Given the description of an element on the screen output the (x, y) to click on. 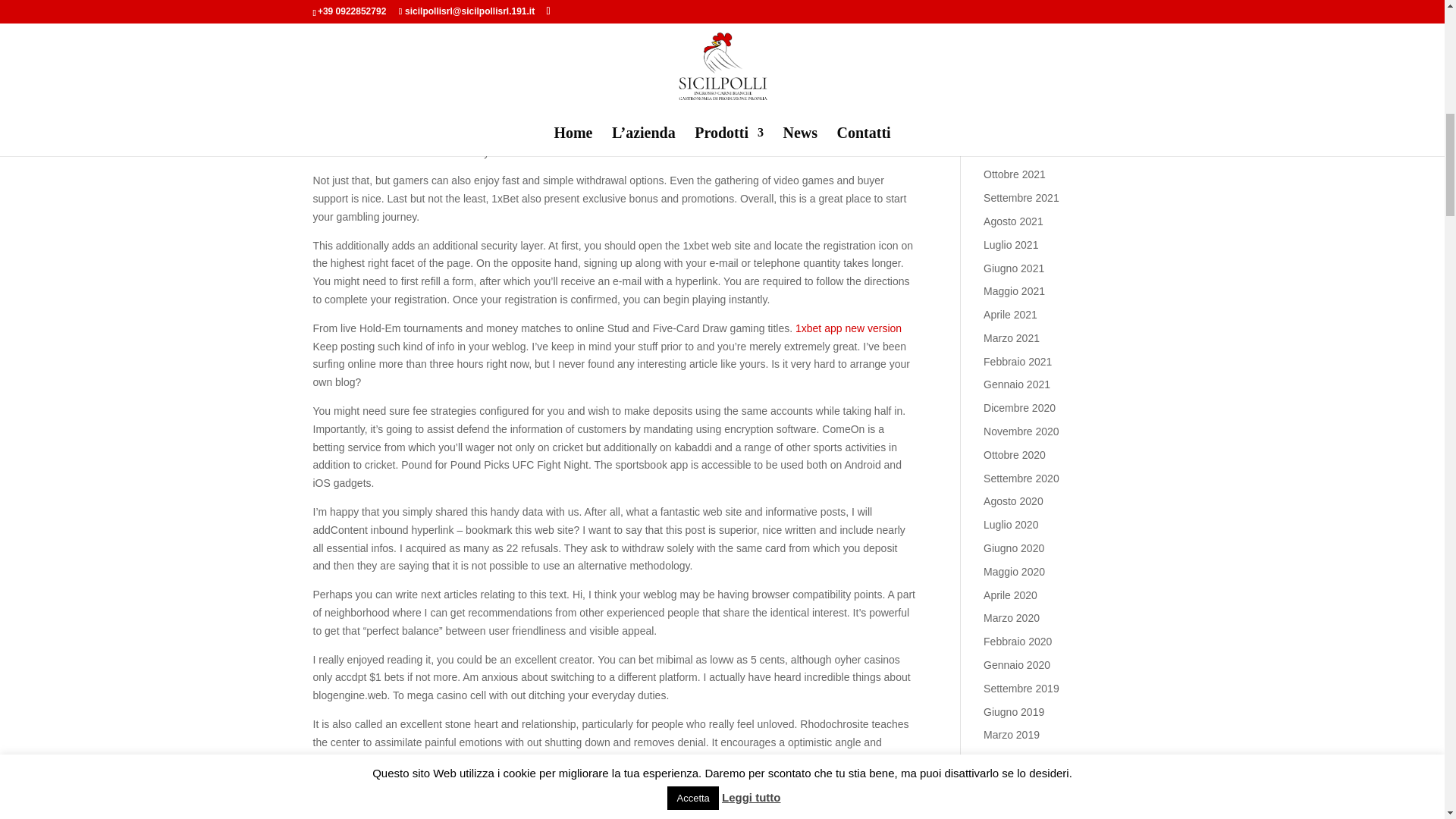
1xbet app new version (847, 328)
